Given the description of an element on the screen output the (x, y) to click on. 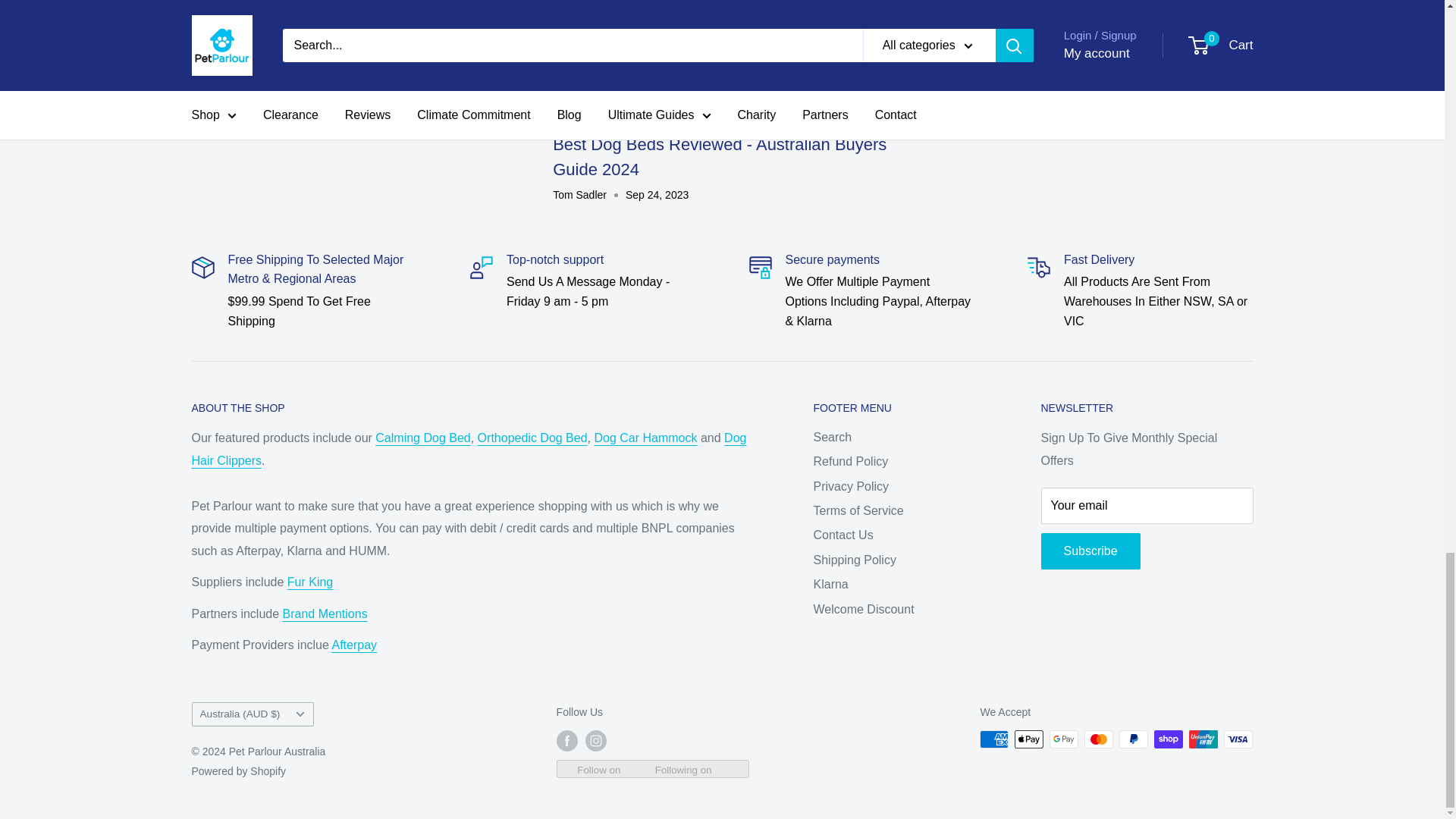
Orthopedic Dog Bed (532, 437)
Dog Hair Clippers (467, 448)
Calming Dog Bed (422, 437)
Dog Car Hammock (645, 437)
